Given the description of an element on the screen output the (x, y) to click on. 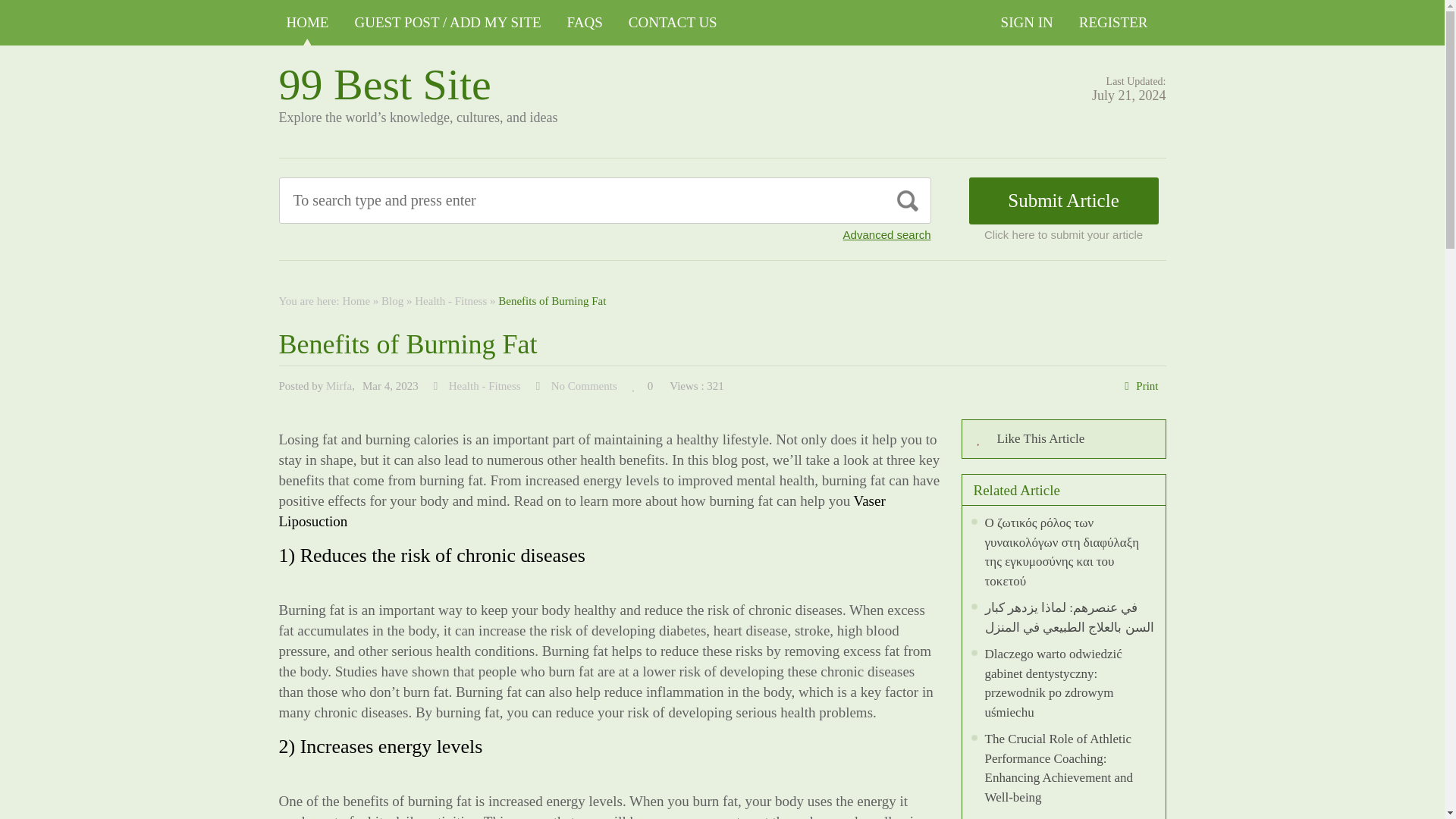
To search type and press enter (535, 200)
Print (1146, 386)
Health - Fitness (484, 386)
Home (355, 300)
Mirfa (339, 386)
FAQS (584, 22)
CONTACT US (673, 22)
Blog (392, 300)
SIGN IN (1026, 22)
Health - Fitness (450, 300)
Like This Article (1063, 438)
99 Best Site (385, 83)
Posts by Mirfa (339, 386)
